Given the description of an element on the screen output the (x, y) to click on. 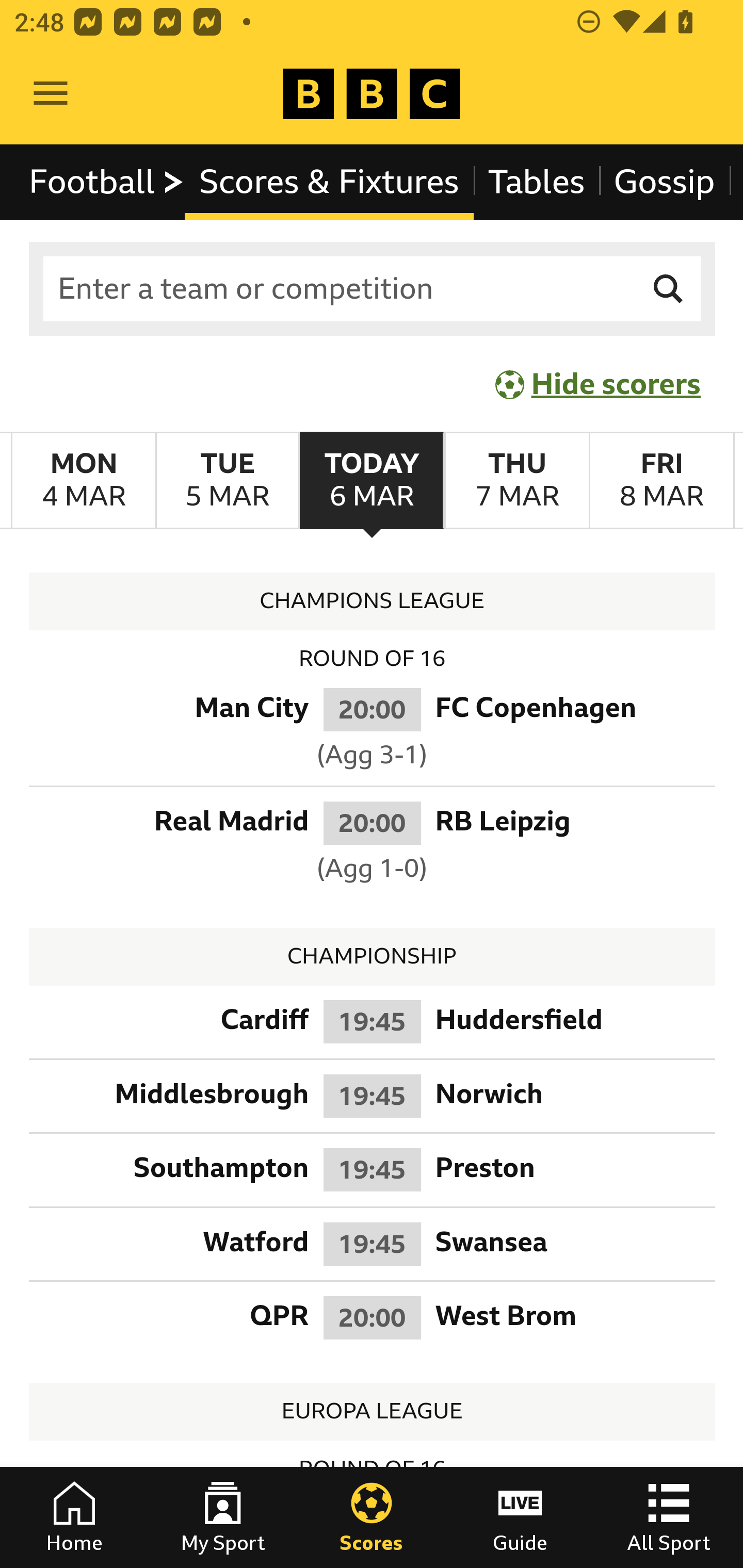
Open Menu (50, 93)
Football  (106, 181)
Scores & Fixtures (329, 181)
Tables (536, 181)
Gossip (664, 181)
Search (669, 289)
Hide scorers (598, 383)
MondayMarch 4th Monday March 4th (83, 480)
TuesdayMarch 5th Tuesday March 5th (227, 480)
ThursdayMarch 7th Thursday March 7th (516, 480)
FridayMarch 8th Friday March 8th (661, 480)
Home (74, 1517)
My Sport (222, 1517)
Guide (519, 1517)
All Sport (668, 1517)
